Given the description of an element on the screen output the (x, y) to click on. 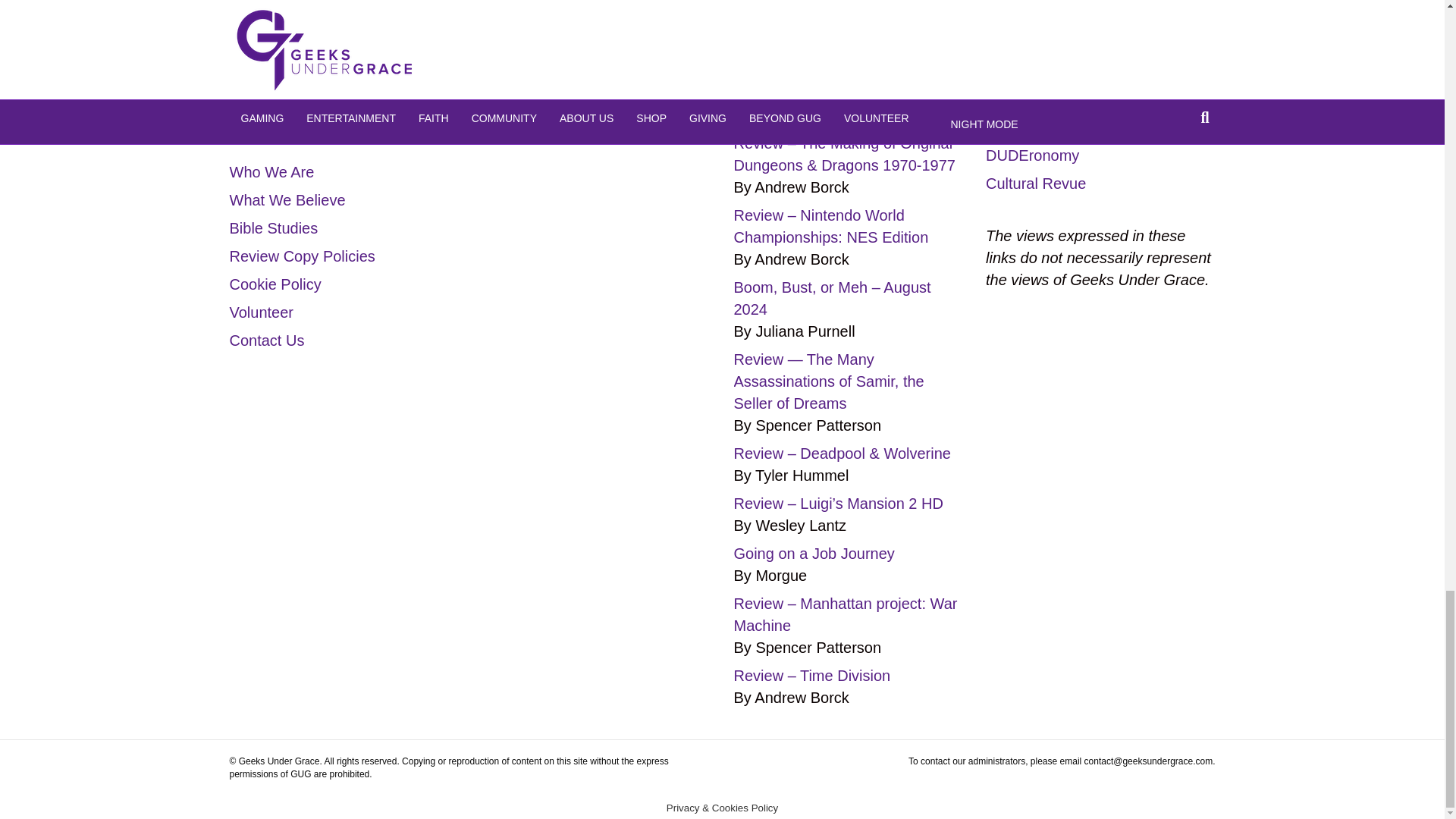
Type and press Enter to search. (343, 73)
